Given the description of an element on the screen output the (x, y) to click on. 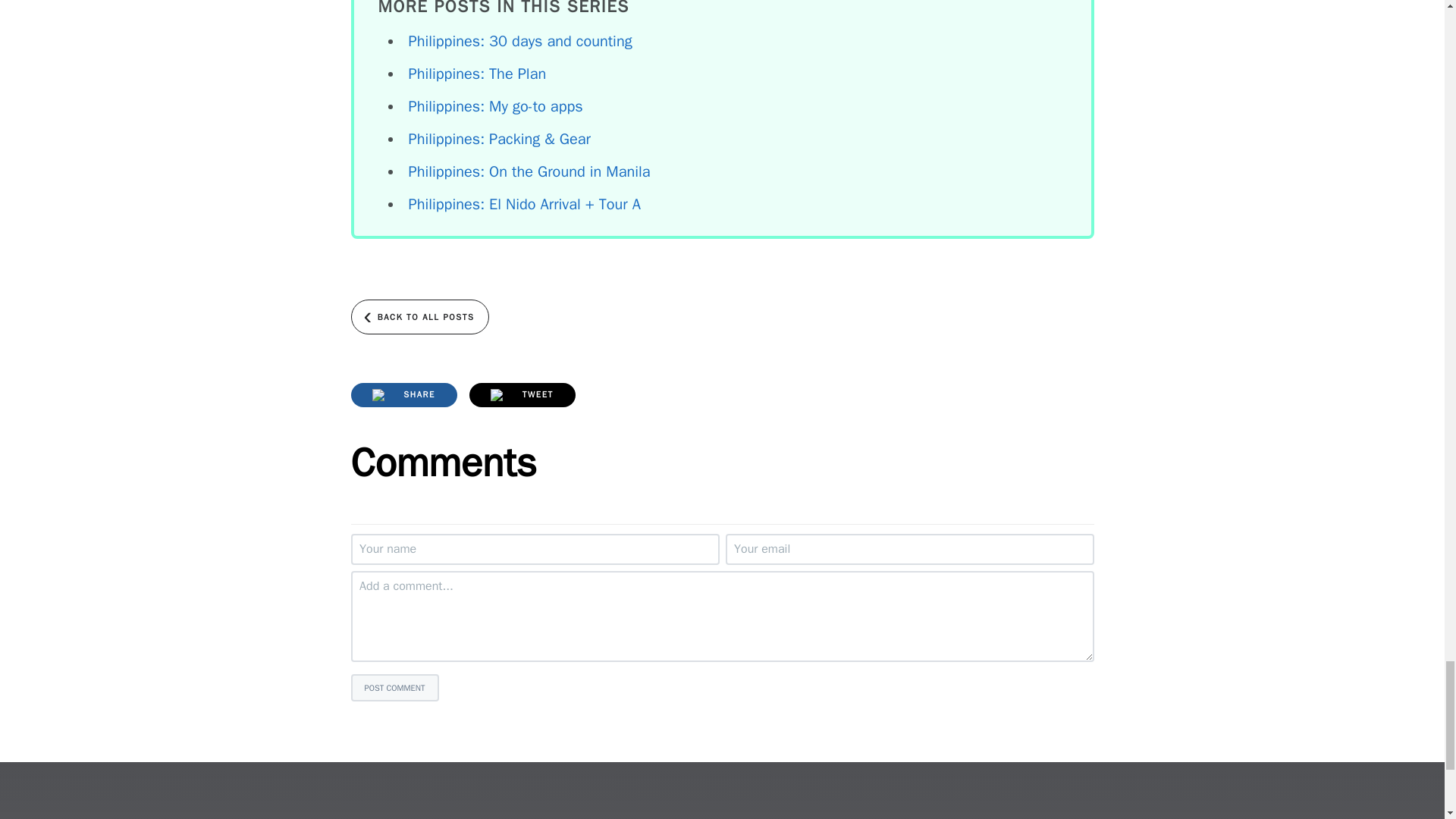
SHARE (403, 395)
Philippines: The Plan (476, 73)
BACK TO ALL POSTS (418, 316)
POST COMMENT (394, 687)
Philippines: My go-to apps (494, 106)
TWEET (521, 395)
Philippines: On the Ground in Manila (528, 171)
Philippines: 30 days and counting (519, 40)
